Given the description of an element on the screen output the (x, y) to click on. 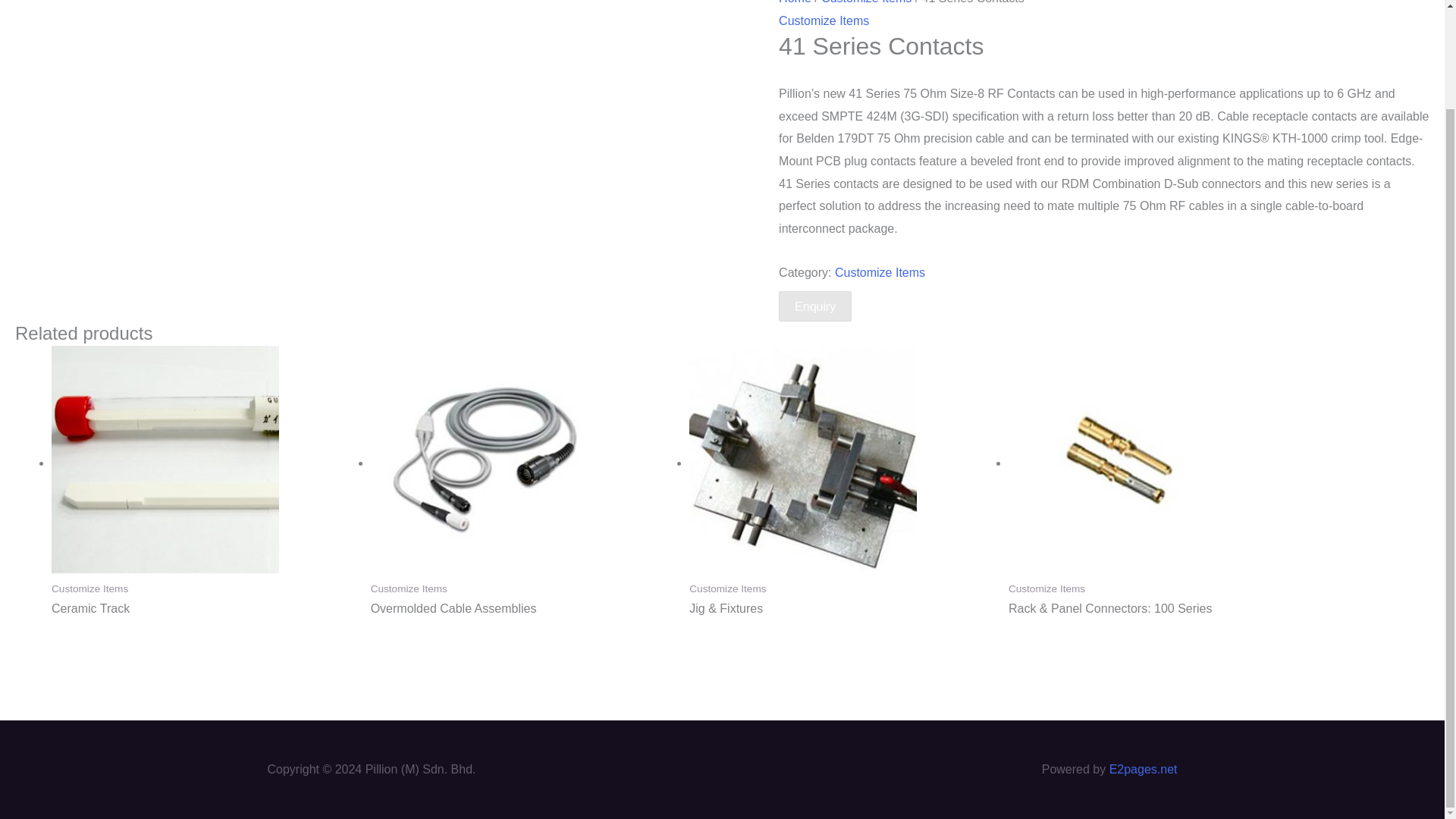
Home (794, 2)
Customize Items (879, 272)
Customize Items (866, 2)
Ceramic Track (202, 609)
Customize Items (823, 20)
Overmolded Cable Assemblies (523, 609)
Enquiry (814, 306)
